Given the description of an element on the screen output the (x, y) to click on. 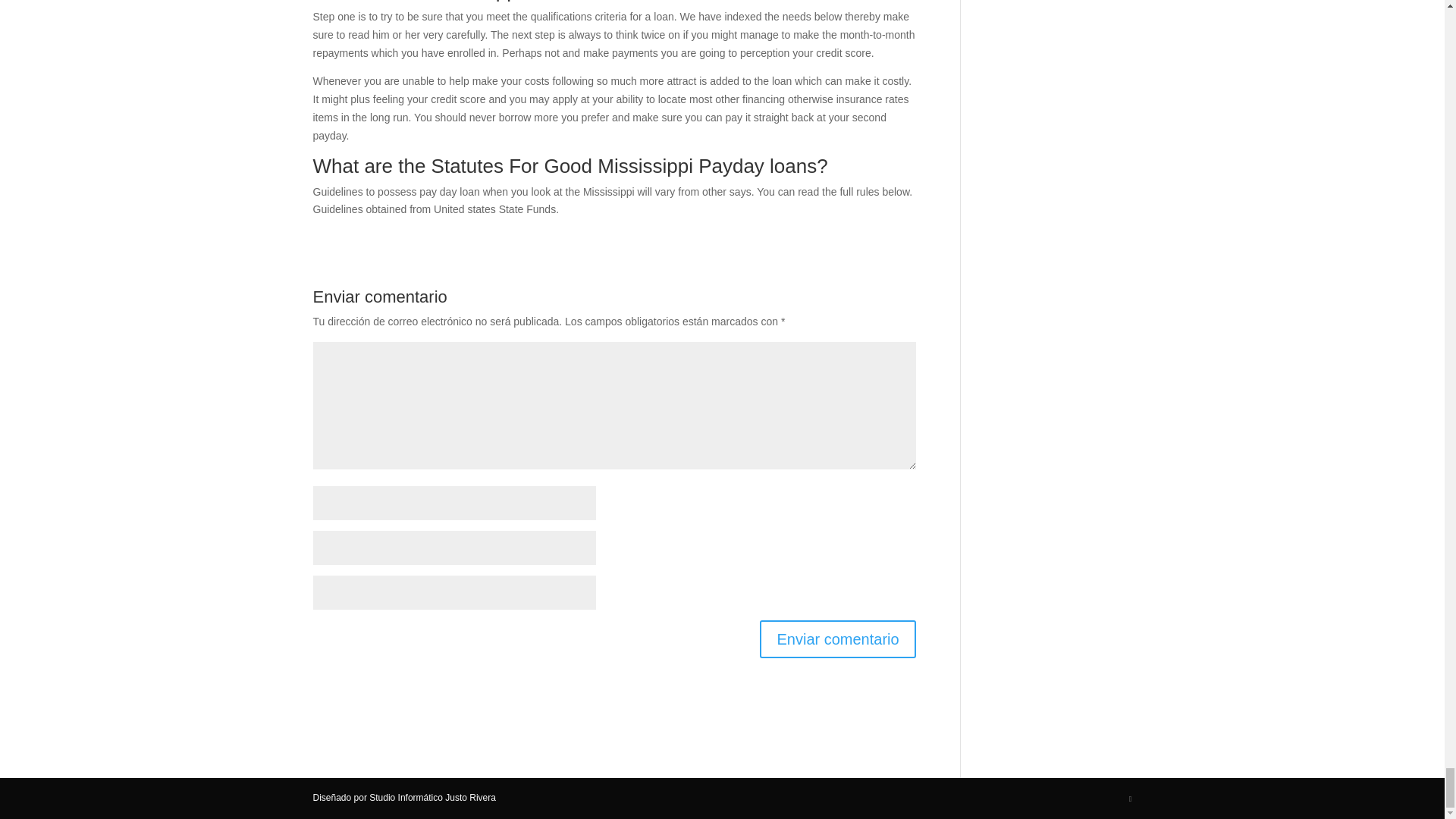
Enviar comentario (837, 638)
